Given the description of an element on the screen output the (x, y) to click on. 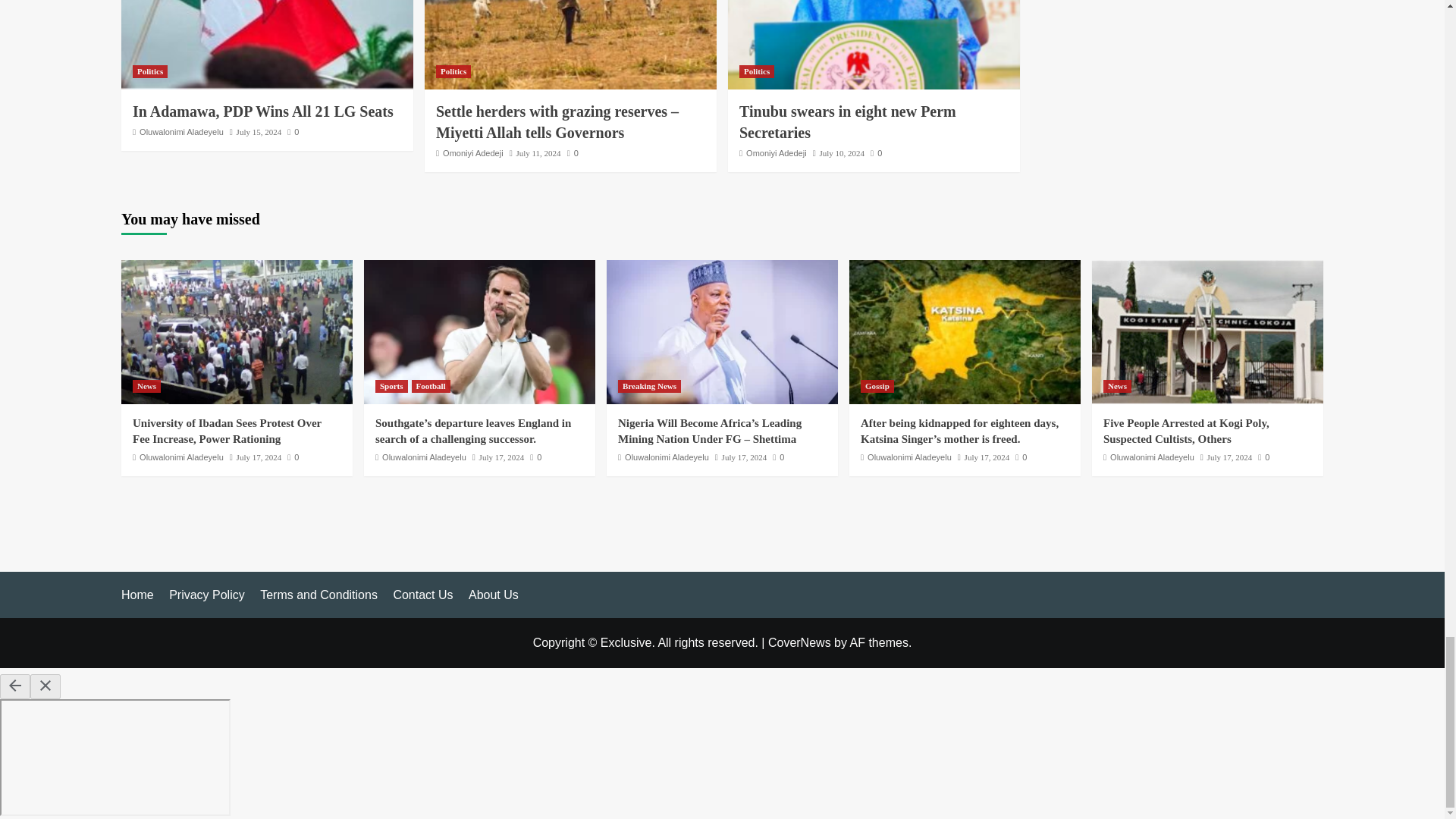
Oluwalonimi Aladeyelu (181, 131)
Politics (149, 71)
July 15, 2024 (258, 131)
In Adamawa, PDP Wins All 21 LG Seats (262, 111)
